Given the description of an element on the screen output the (x, y) to click on. 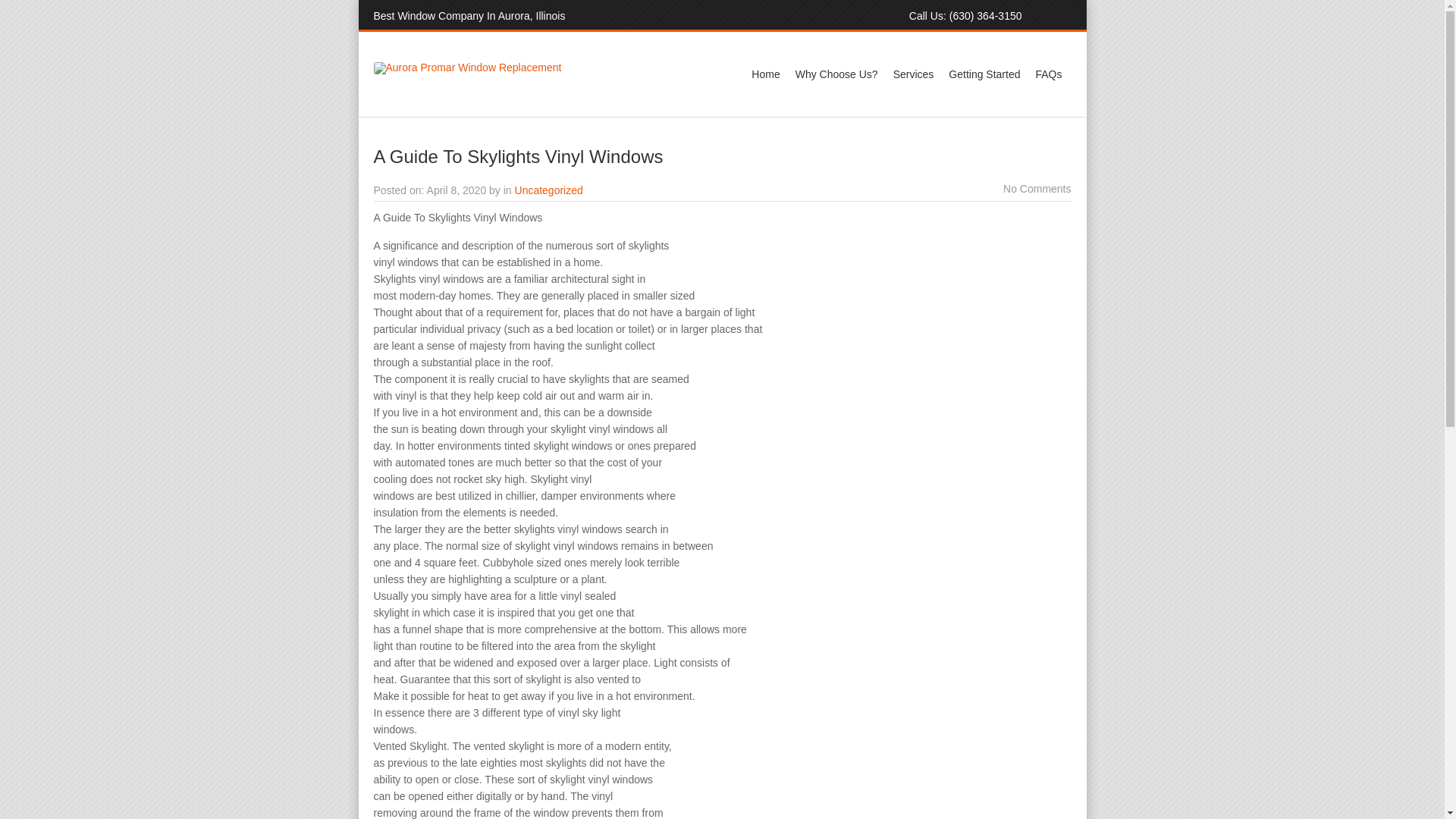
Getting Started (984, 74)
Home (765, 74)
Why Choose Us? (836, 74)
Services (913, 74)
FAQs (1048, 74)
Uncategorized (549, 190)
